Given the description of an element on the screen output the (x, y) to click on. 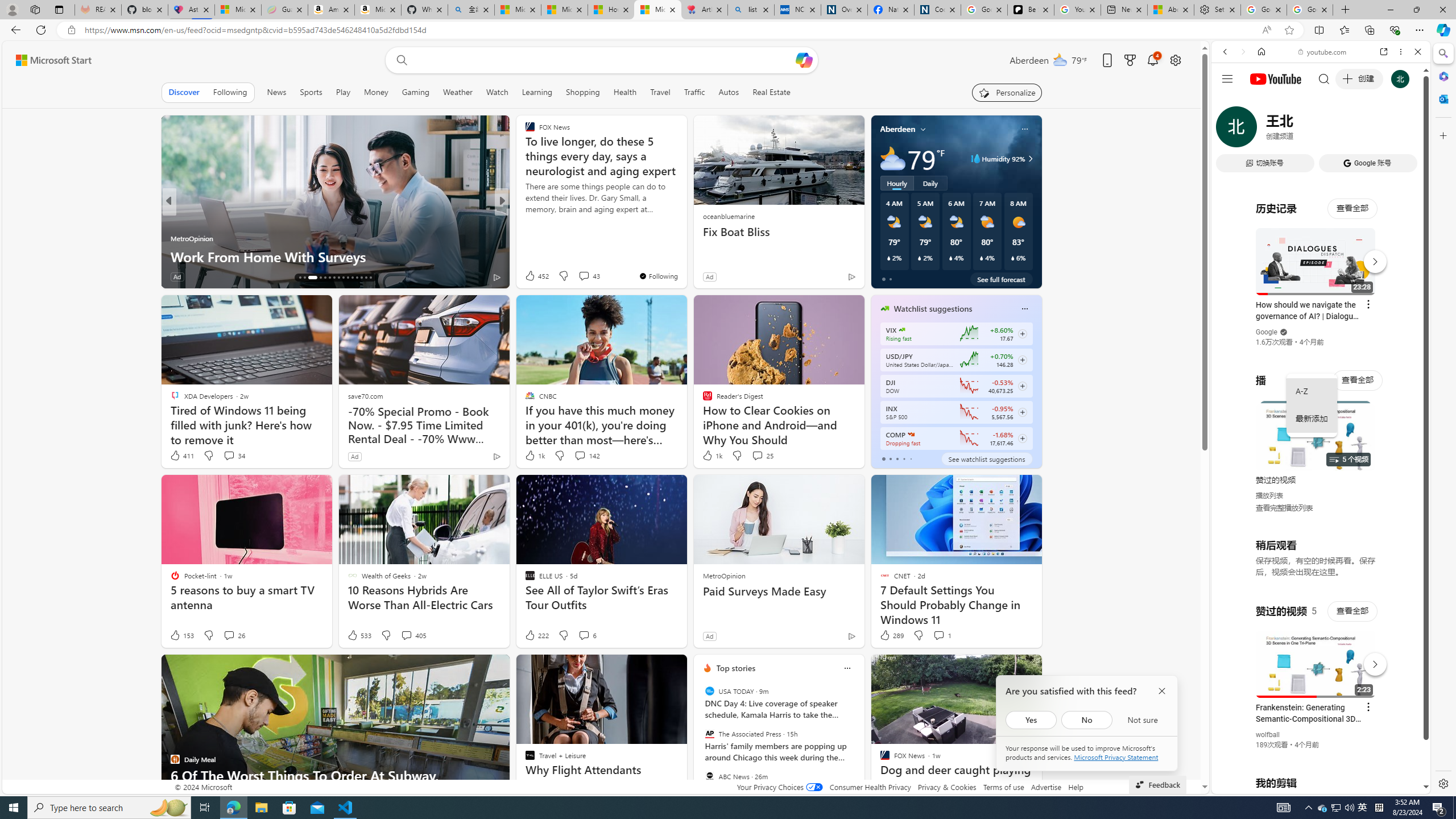
AutomationID: tab-17 (304, 277)
Ad (708, 636)
Preferences (1403, 129)
237 Like (532, 276)
View comments 496 Comment (576, 276)
AutomationID: tab-27 (356, 277)
View comments 4 Comment (583, 276)
Discover (183, 92)
Side bar (1443, 418)
Mostly cloudy (892, 158)
Skip to content (49, 59)
